Given the description of an element on the screen output the (x, y) to click on. 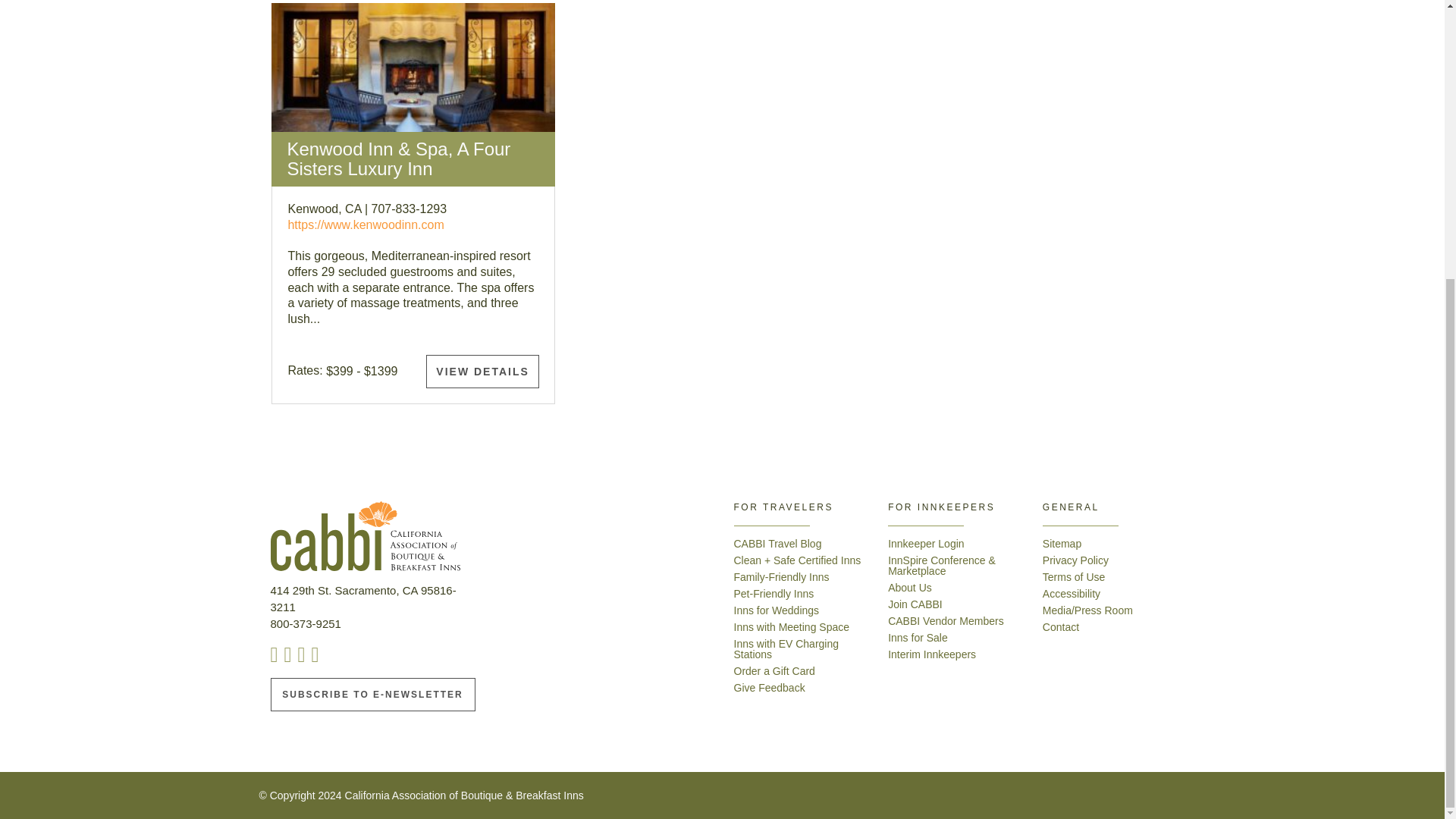
SUBSCRIBE TO E-NEWSLETTER (371, 694)
Family-Friendly Inns (781, 576)
Give Feedback (769, 687)
Innkeeper Login (925, 543)
Pet-Friendly Inns (773, 593)
Inns with Meeting Space (791, 626)
Inns with EV Charging Stations (786, 649)
Order a Gift Card (774, 671)
VIEW DETAILS (482, 371)
Inns for Weddings (776, 610)
